Given the description of an element on the screen output the (x, y) to click on. 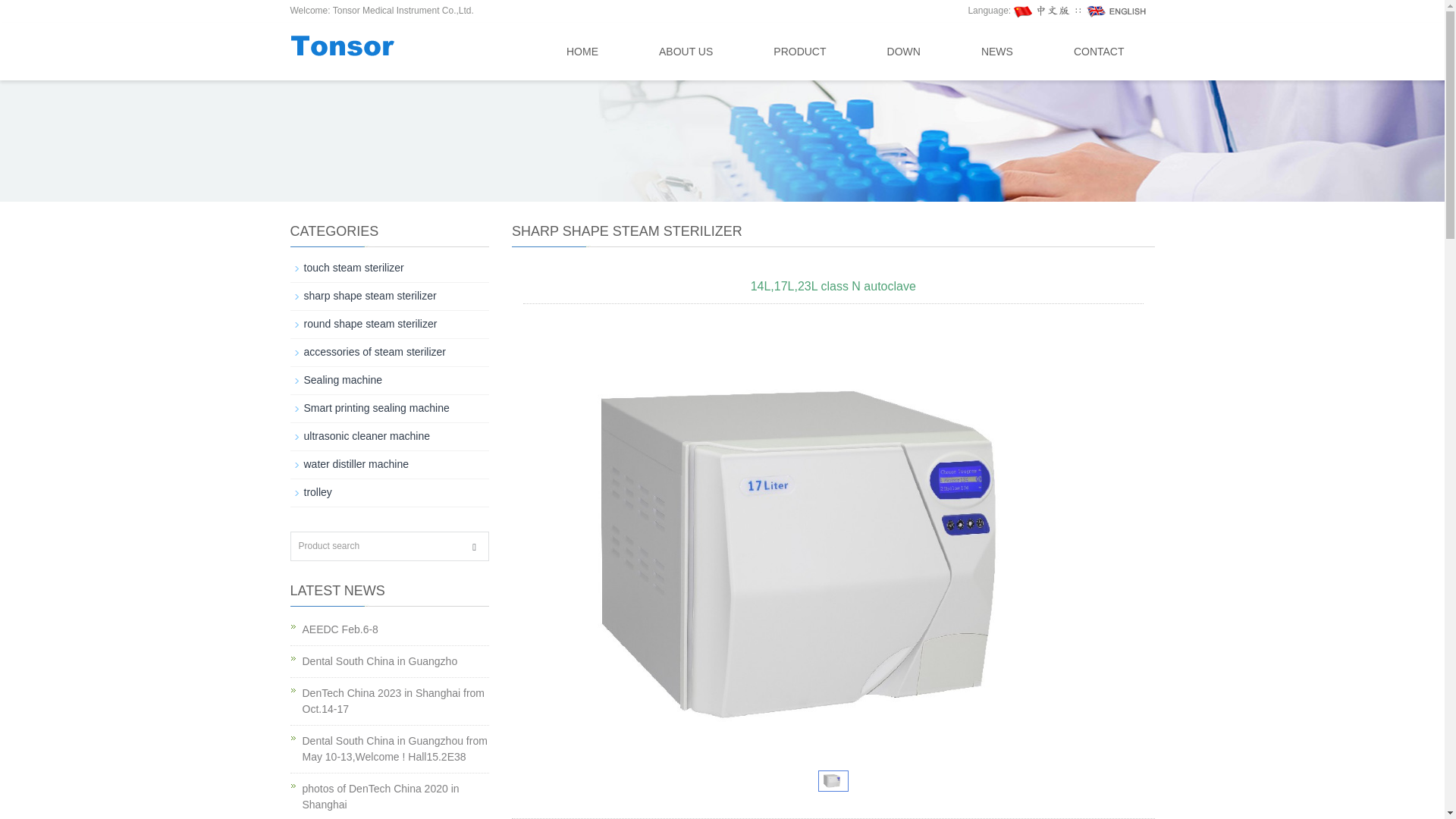
HOME (581, 51)
ultrasonic cleaner machine (365, 435)
English (1116, 9)
Dental South China in Guangzho (379, 661)
PRODUCT (799, 51)
accessories of steam sterilizer (373, 351)
ABOUT US (685, 51)
photos of DenTech China 2020 in Shanghai (379, 796)
DenTech China 2023 in Shanghai from Oct.14-17 (392, 700)
DOWN (903, 51)
